Given the description of an element on the screen output the (x, y) to click on. 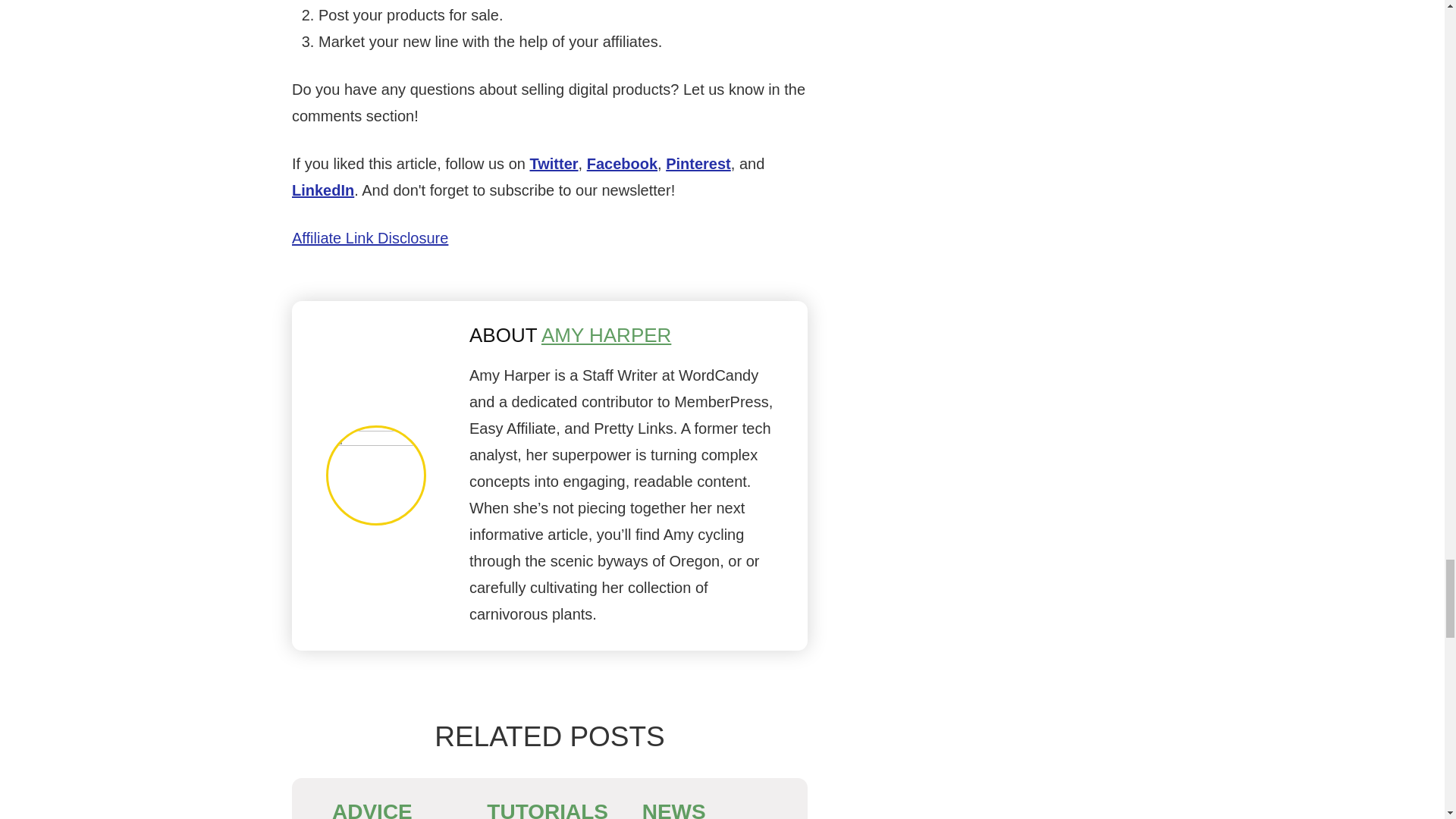
Affiliate Link Disclosure (370, 237)
Facebook (622, 162)
Twitter (553, 162)
LinkedIn (322, 190)
AMY HARPER (606, 333)
Pinterest (697, 162)
